Given the description of an element on the screen output the (x, y) to click on. 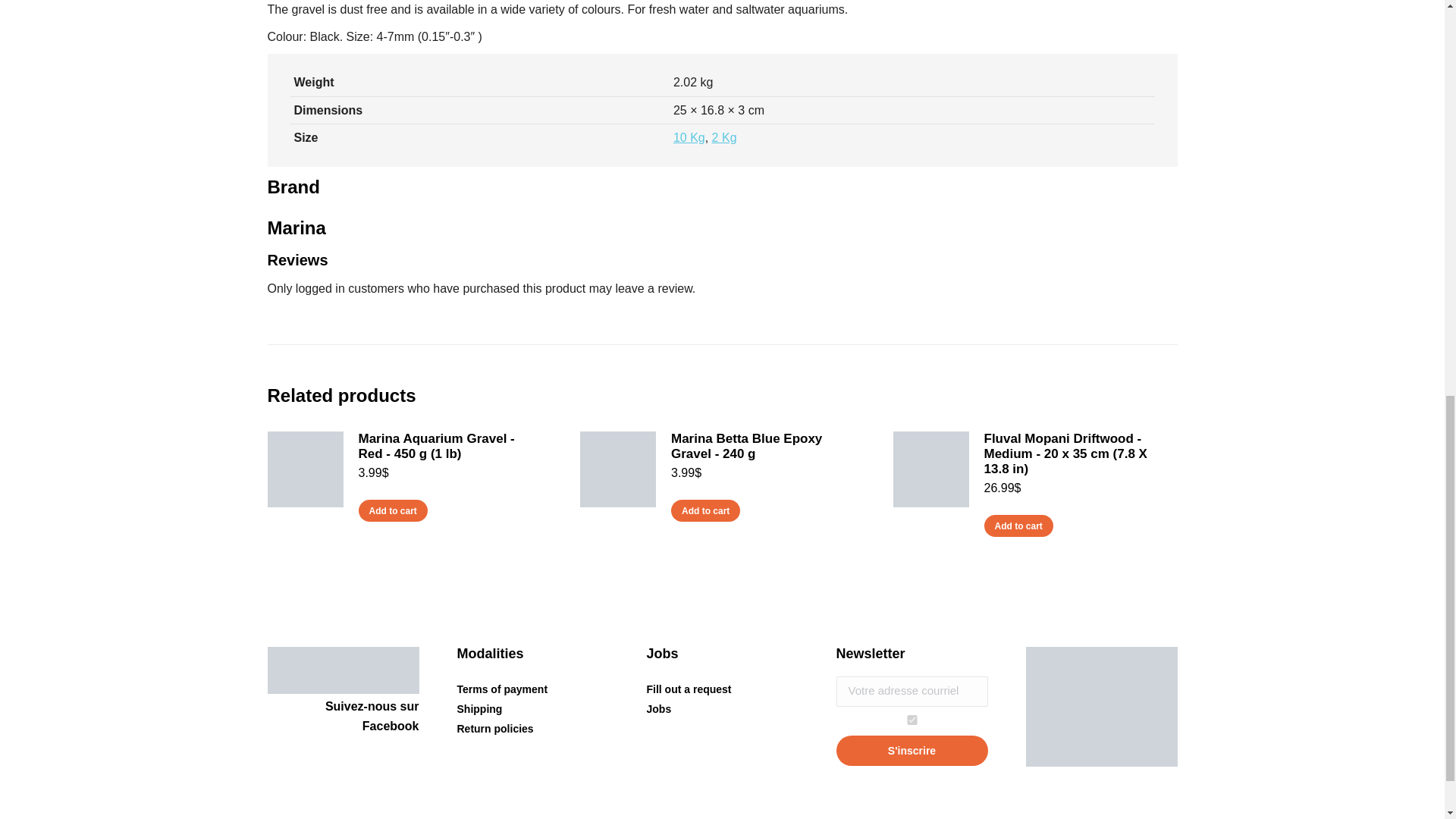
S'inscrire (911, 750)
3da2cafd13 (911, 719)
